Given the description of an element on the screen output the (x, y) to click on. 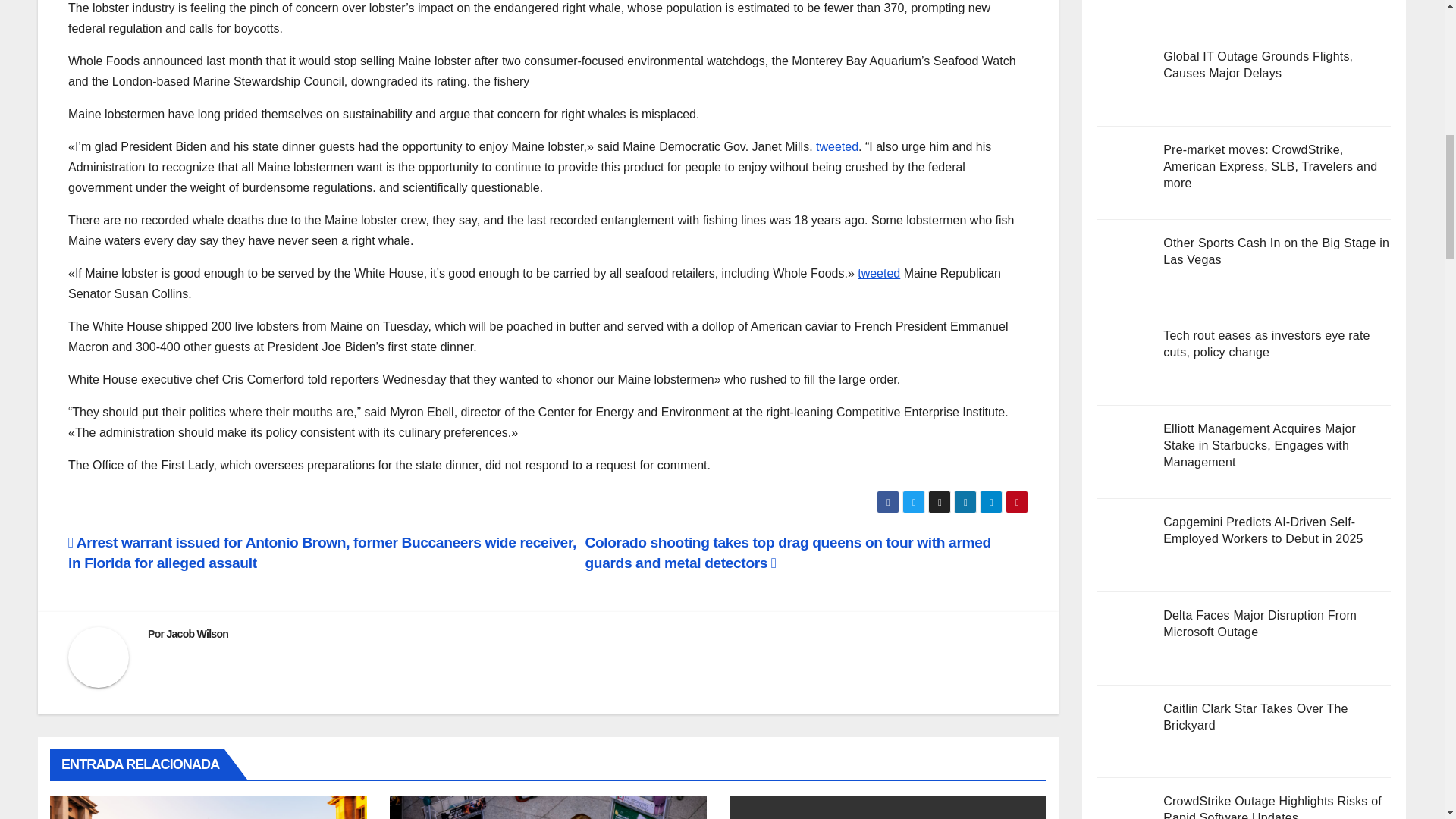
tweeted (837, 146)
Jacob Wilson (196, 633)
tweeted (878, 273)
